Given the description of an element on the screen output the (x, y) to click on. 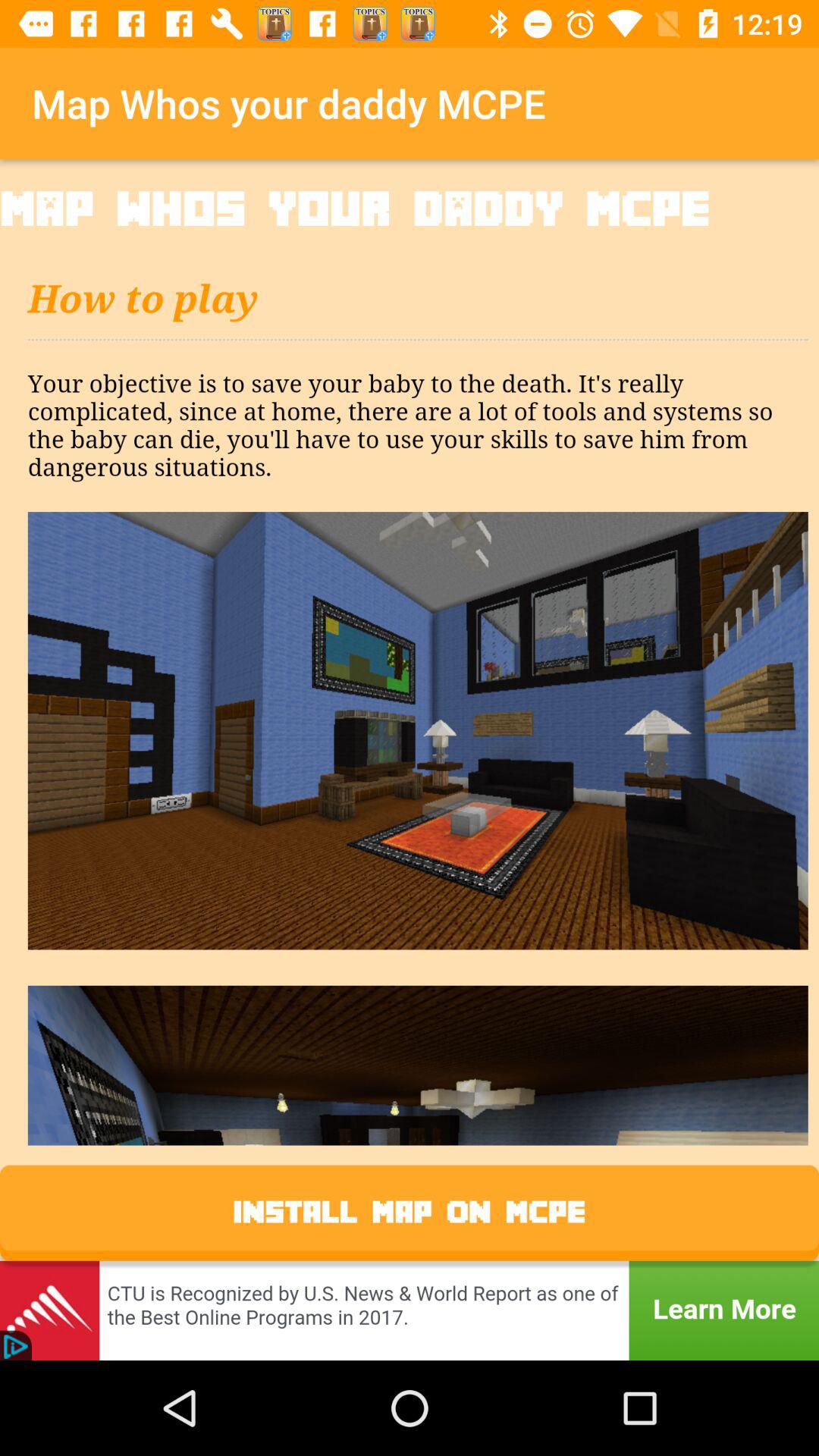
description (409, 687)
